Given the description of an element on the screen output the (x, y) to click on. 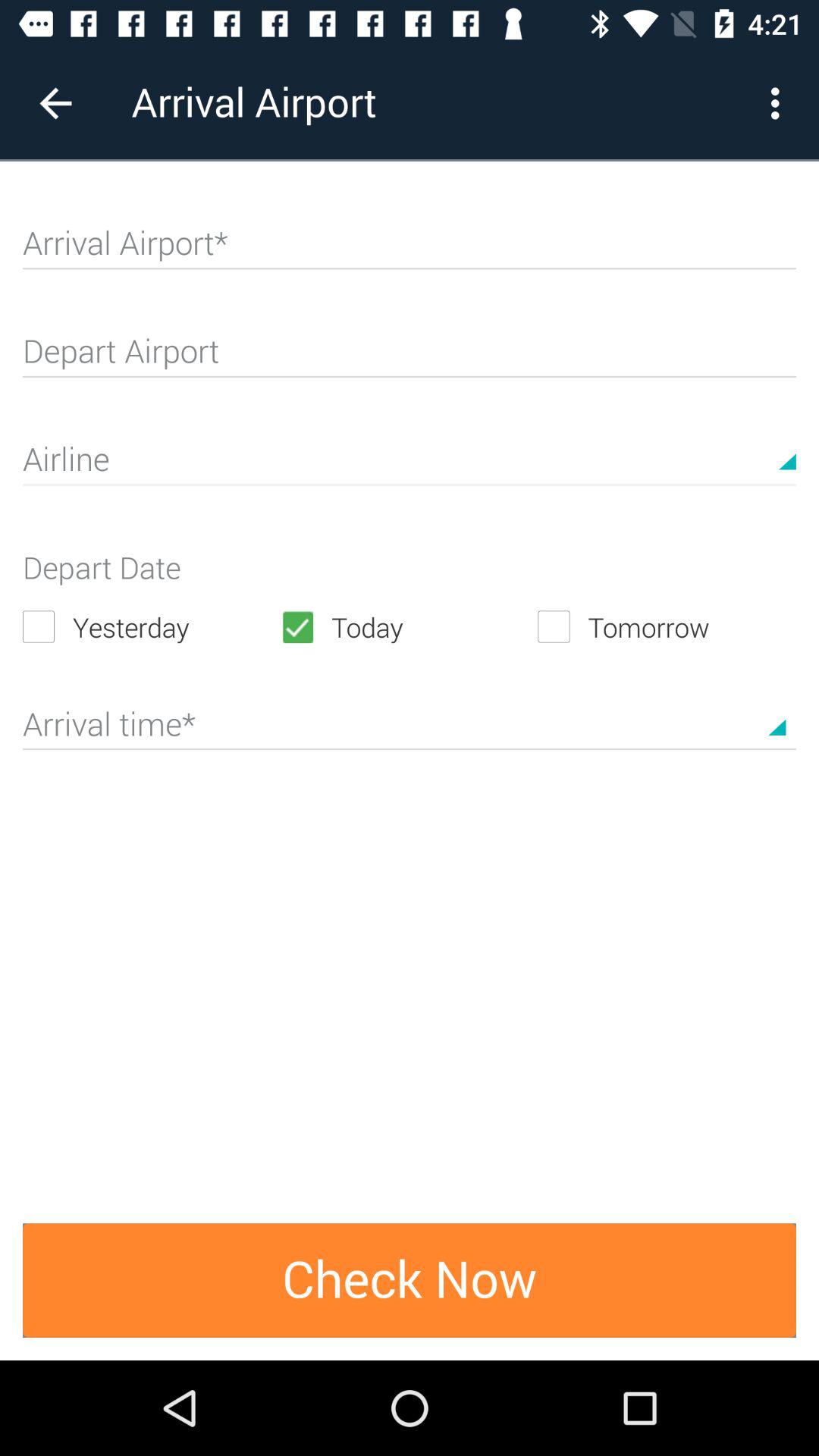
turn on today icon (409, 626)
